Given the description of an element on the screen output the (x, y) to click on. 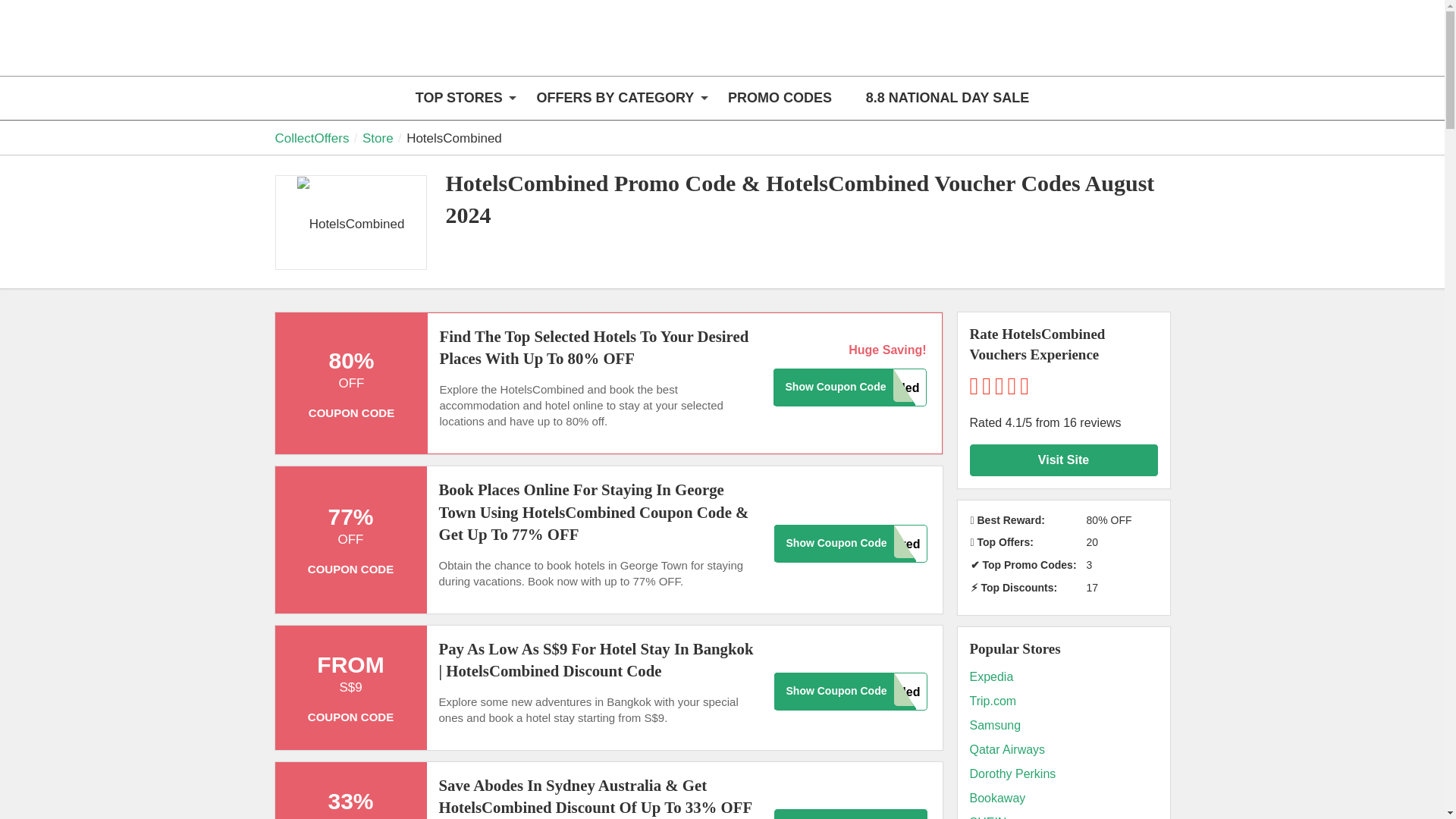
CollectOffers (369, 47)
OFFERS BY CATEGORY (615, 97)
TOP STORES (458, 97)
